Given the description of an element on the screen output the (x, y) to click on. 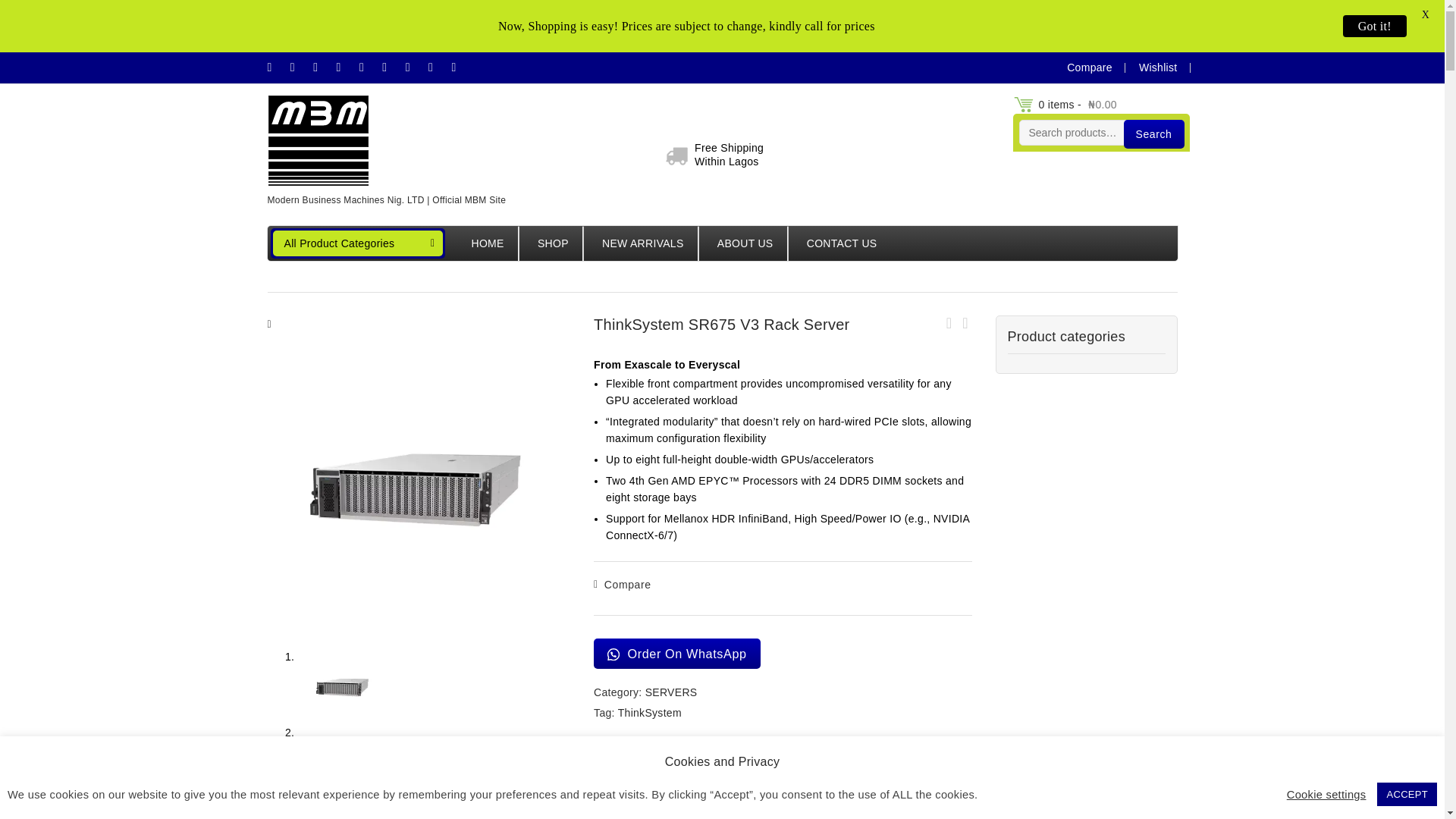
Pinterest (391, 67)
Search (1154, 133)
Google Plus  (713, 154)
Skype (415, 67)
Wishlist (438, 67)
Facebook (1150, 67)
Instagram (276, 67)
Twitter (460, 67)
Compare (299, 67)
